Given the description of an element on the screen output the (x, y) to click on. 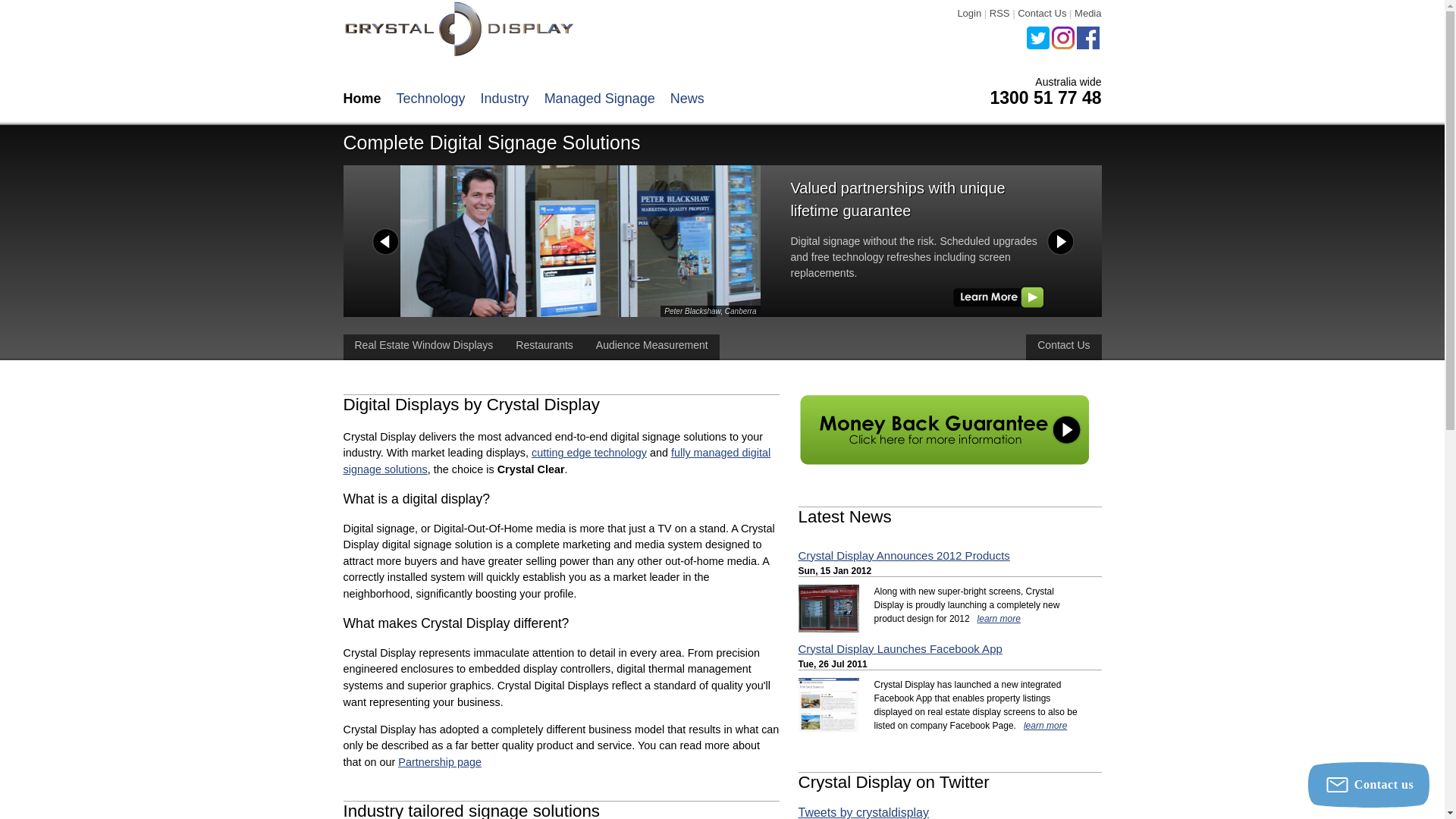
Restaurants Element type: text (543, 347)
Contact us Element type: text (1368, 784)
Real Estate Window Displays Element type: text (423, 347)
learn more Element type: text (998, 618)
Media Element type: text (1087, 12)
Contact Us Element type: text (1041, 12)
Contact Us Element type: text (1063, 347)
Login Element type: text (969, 12)
Home Element type: text (361, 98)
Valued partnerships with unique lifetime guarantee Element type: hover (998, 297)
Crystal Display Announces 2012 Products Element type: text (903, 555)
learn more Element type: text (1044, 725)
Partnership page Element type: text (439, 762)
Industry Element type: text (504, 98)
cutting edge technology Element type: text (588, 452)
RSS Element type: text (999, 12)
Crystal Display Launches Facebook App Element type: text (899, 648)
Audience Measurement Element type: text (651, 347)
News Element type: text (687, 98)
Technology Element type: text (430, 98)
Managed Signage Element type: text (599, 98)
fully managed digital signage solutions Element type: text (556, 460)
